Given the description of an element on the screen output the (x, y) to click on. 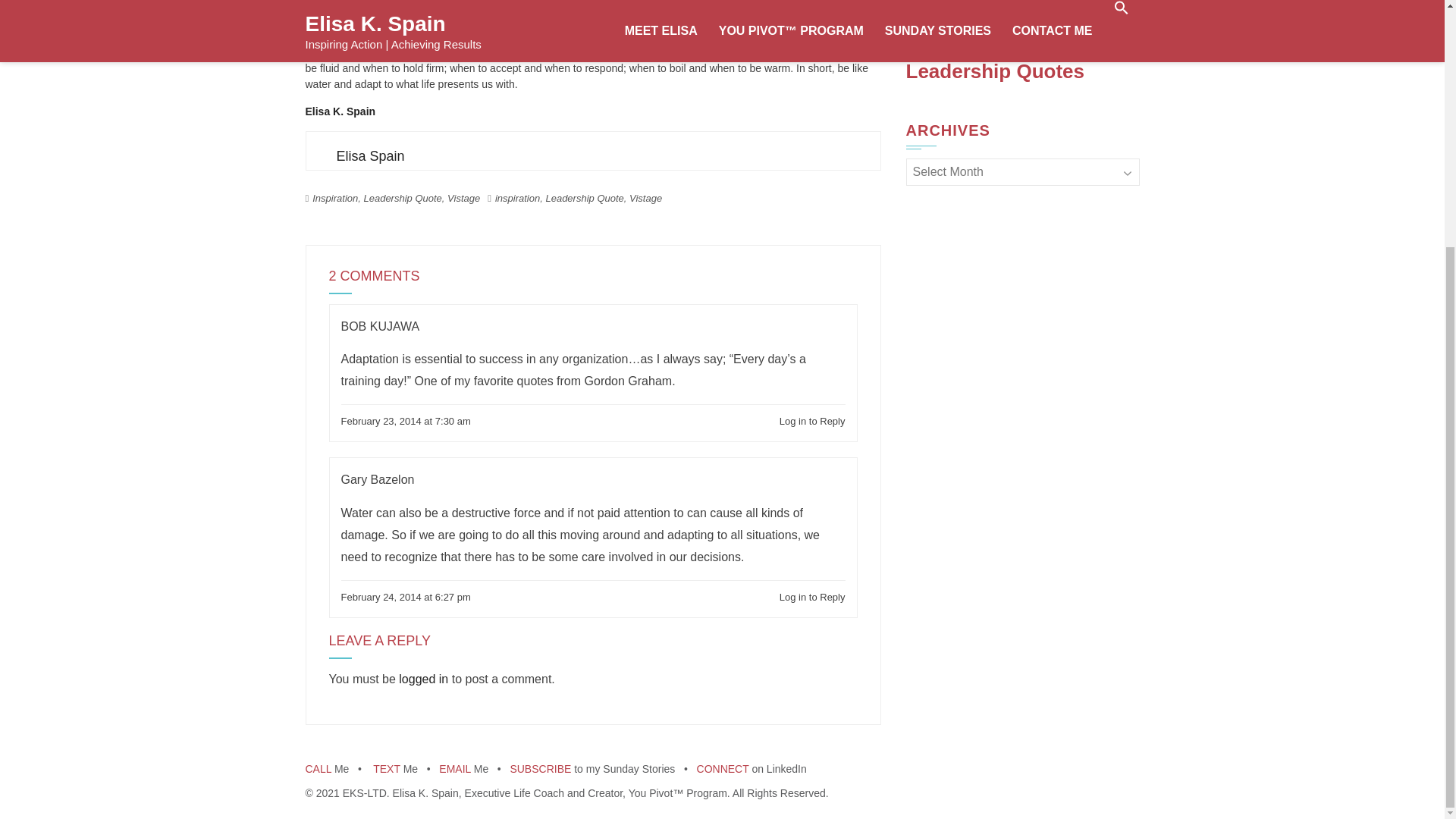
February 23, 2014 at 7:30 am (405, 420)
Vistage (463, 197)
inspiration (517, 197)
February 24, 2014 at 6:27 pm (405, 597)
Leadership Quote (583, 197)
Leadership Quote (401, 197)
Log in to Reply (811, 597)
Inspiration (335, 197)
Vistage (645, 197)
Elisa K. Spain (339, 111)
